Given the description of an element on the screen output the (x, y) to click on. 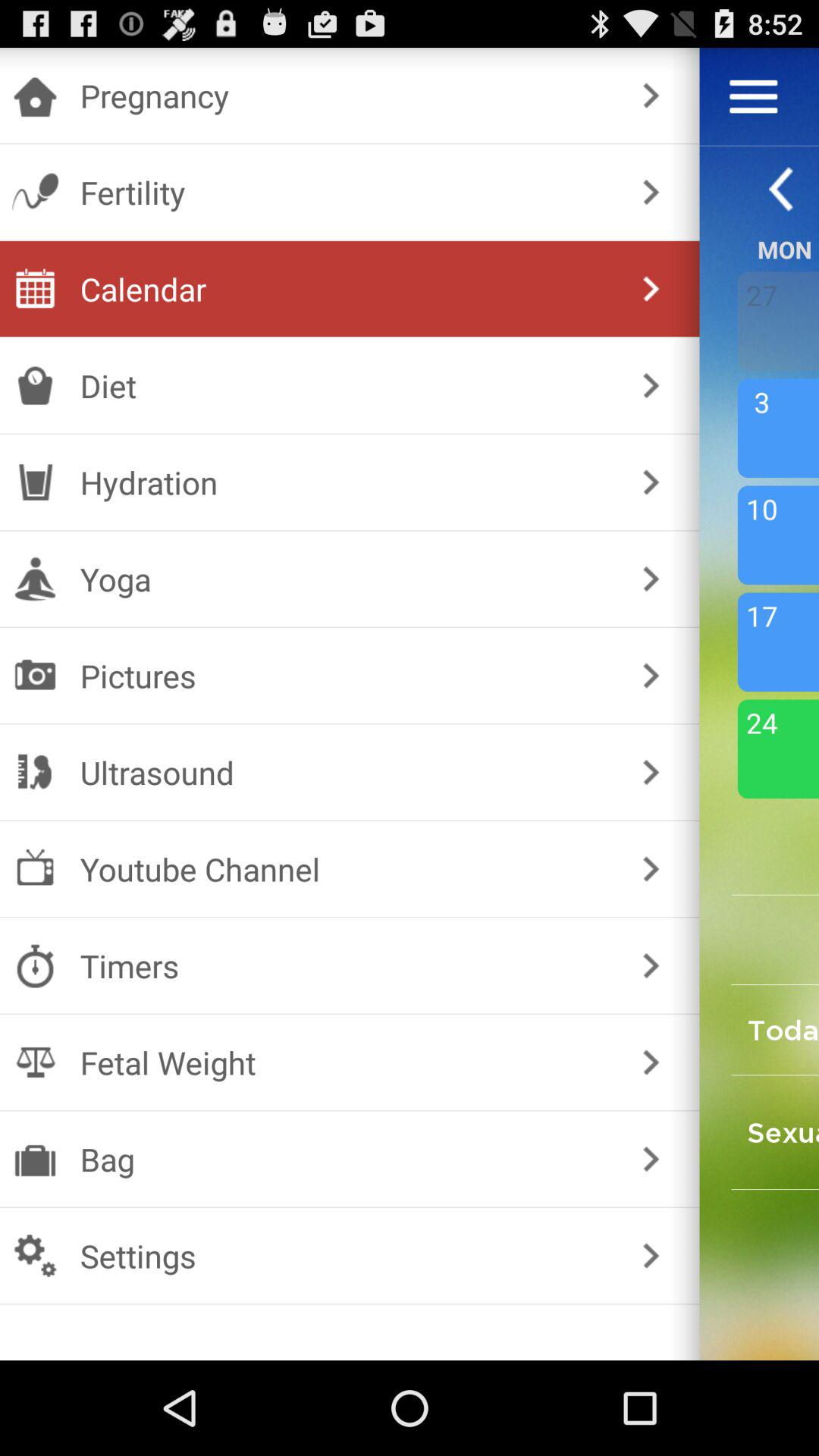
jump to the fetal weight item (346, 1062)
